Given the description of an element on the screen output the (x, y) to click on. 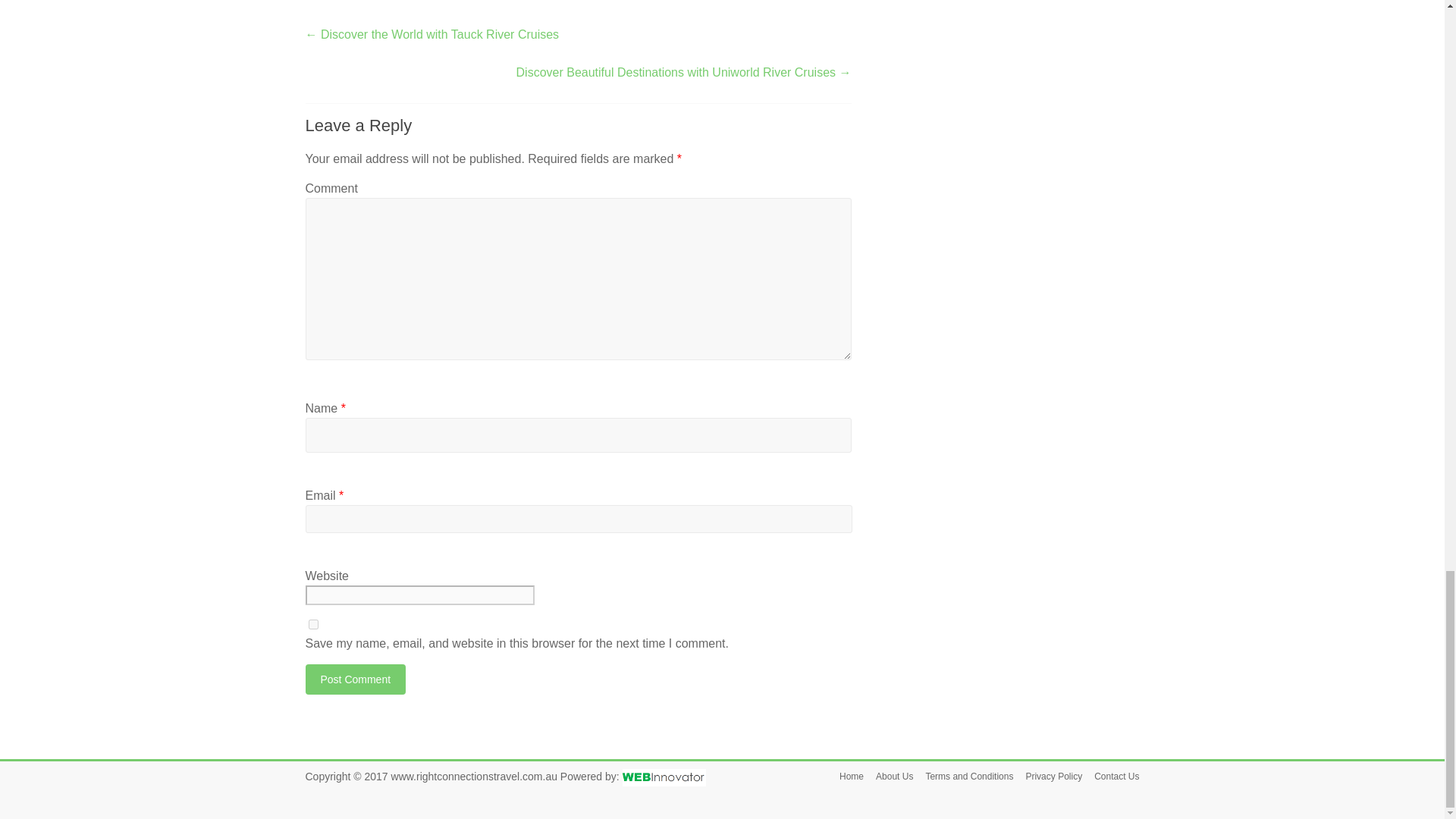
Post Comment (355, 679)
yes (312, 624)
Post Comment (355, 679)
